Given the description of an element on the screen output the (x, y) to click on. 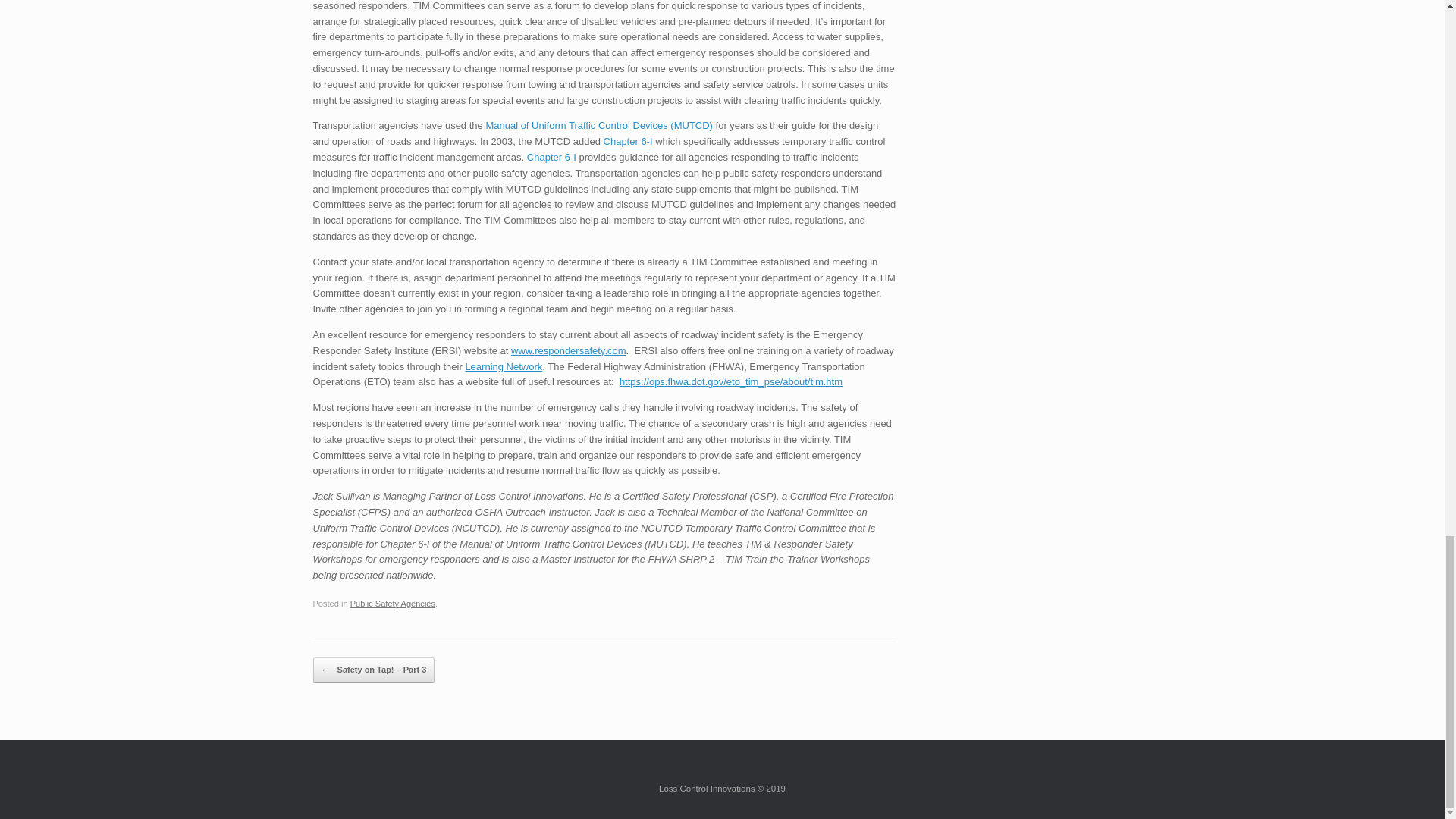
Public Safety Agencies (392, 603)
Chapter 6-I (551, 156)
www.respondersafety.com (568, 350)
Learning Network (502, 366)
Chapter 6-I (628, 141)
